Given the description of an element on the screen output the (x, y) to click on. 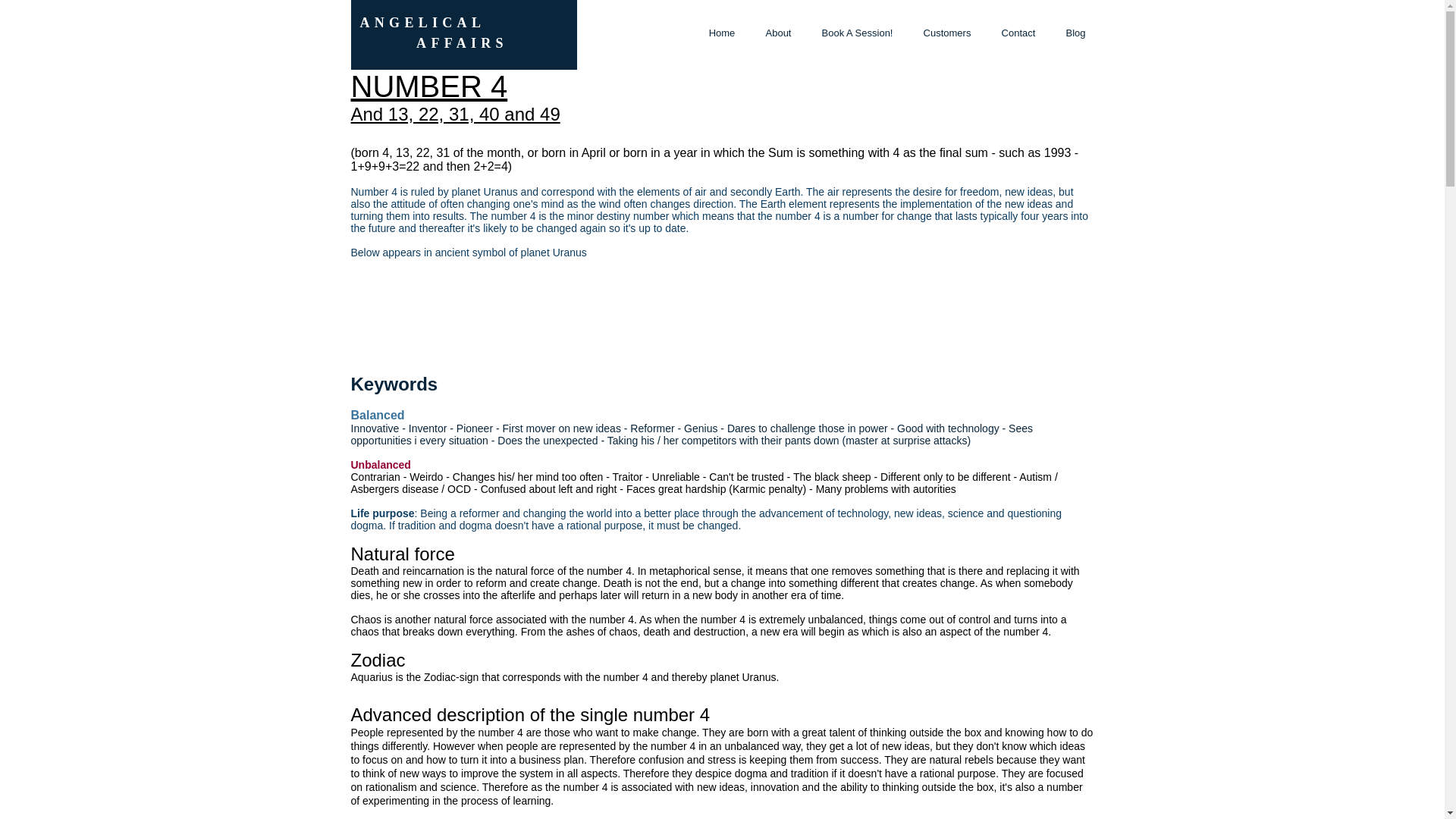
       AFFAIRS (432, 43)
And 13, 22, 31, 40 and 49 (454, 114)
Customers (947, 32)
Book A Session! (857, 32)
Home (721, 32)
Blog (1075, 32)
About (778, 32)
NUMBER 4 (428, 86)
Contact (1017, 32)
ANGELICAL  (426, 22)
